Given the description of an element on the screen output the (x, y) to click on. 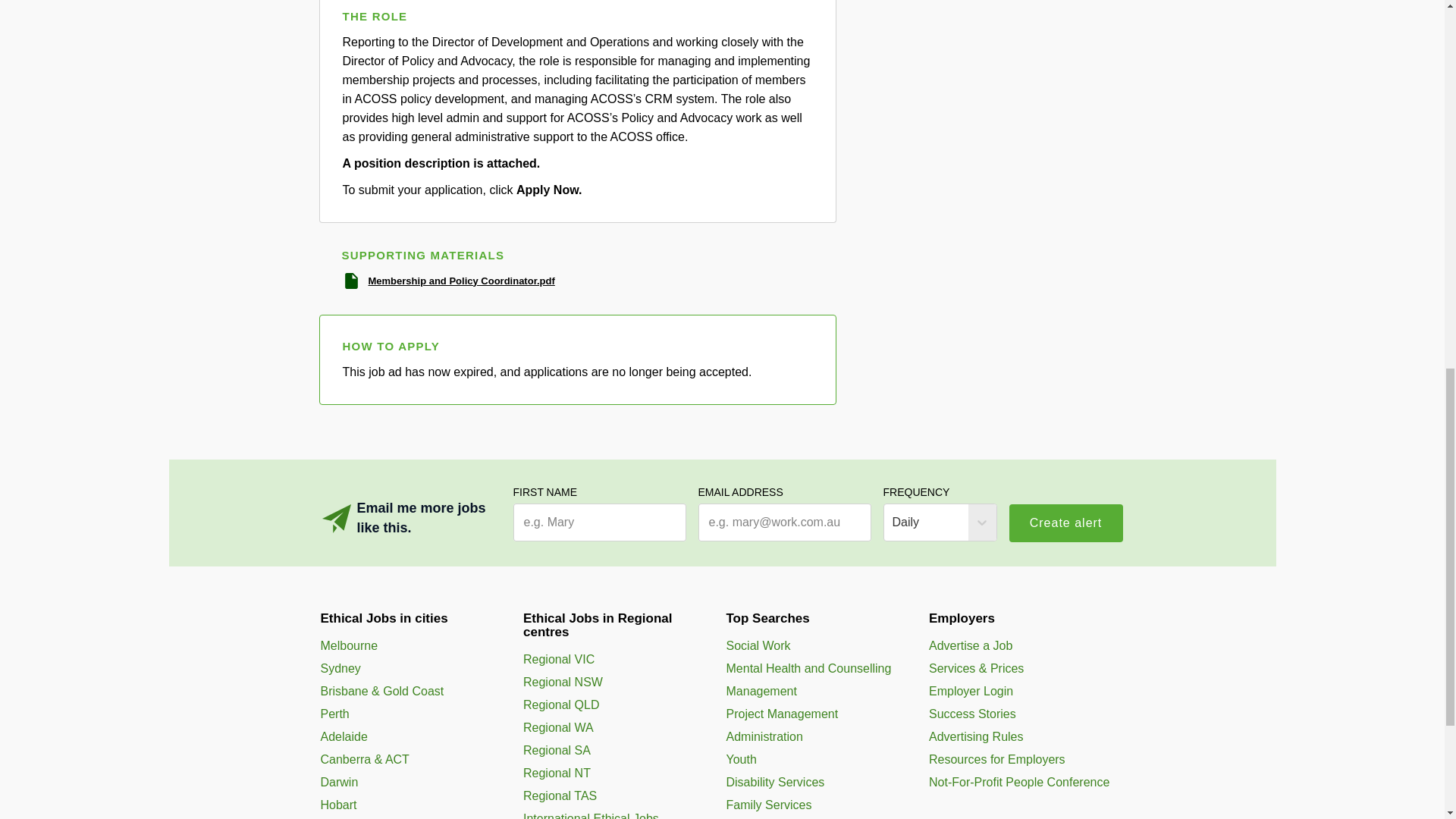
Membership and Policy Coordinator.pdf (461, 280)
